Given the description of an element on the screen output the (x, y) to click on. 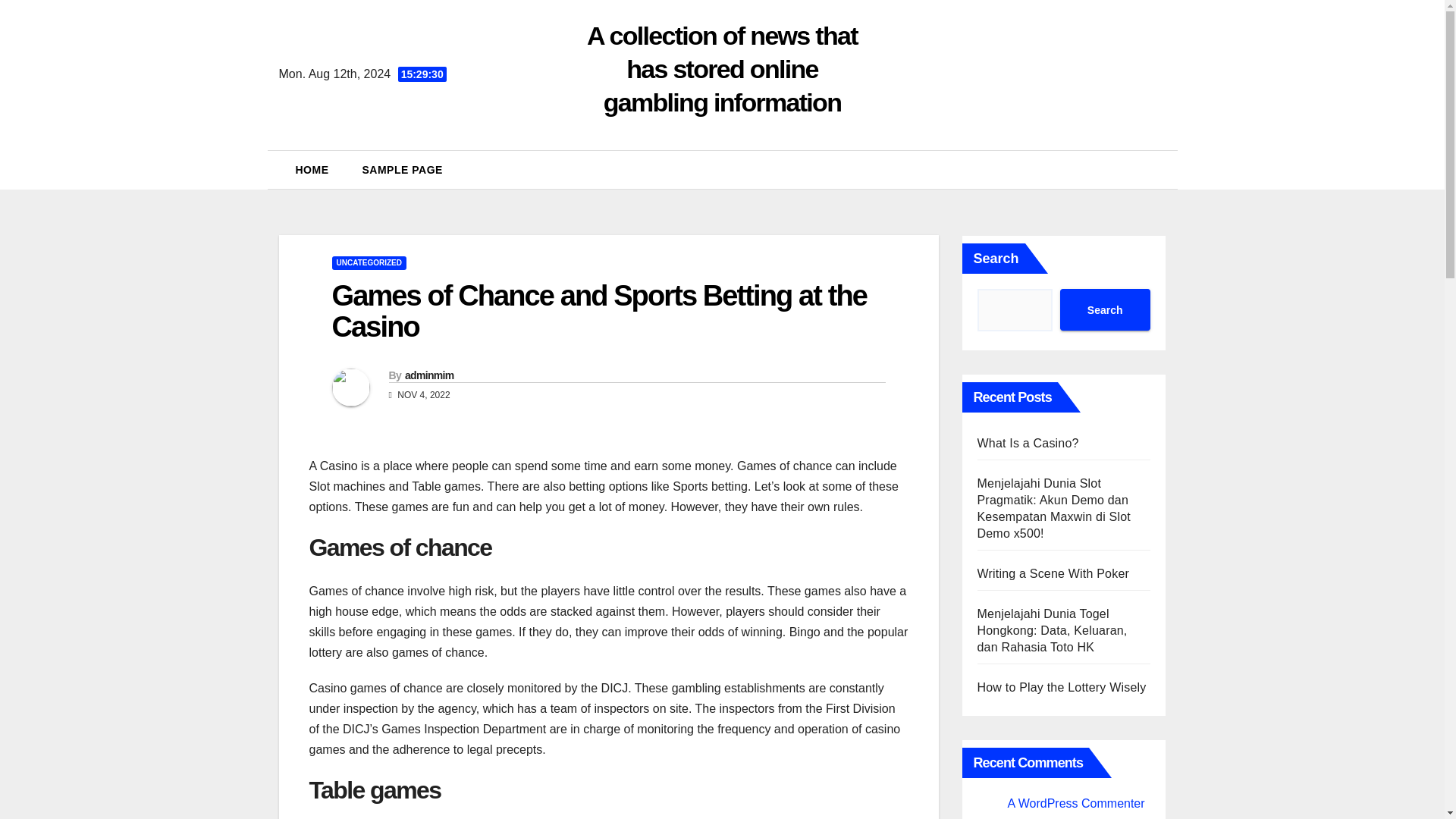
UNCATEGORIZED (368, 263)
Home (312, 169)
SAMPLE PAGE (403, 169)
What Is a Casino? (1027, 442)
Games of Chance and Sports Betting at the Casino (598, 311)
How to Play the Lottery Wisely (1060, 686)
Writing a Scene With Poker (1052, 573)
Search (1104, 309)
A WordPress Commenter (1075, 802)
